Given the description of an element on the screen output the (x, y) to click on. 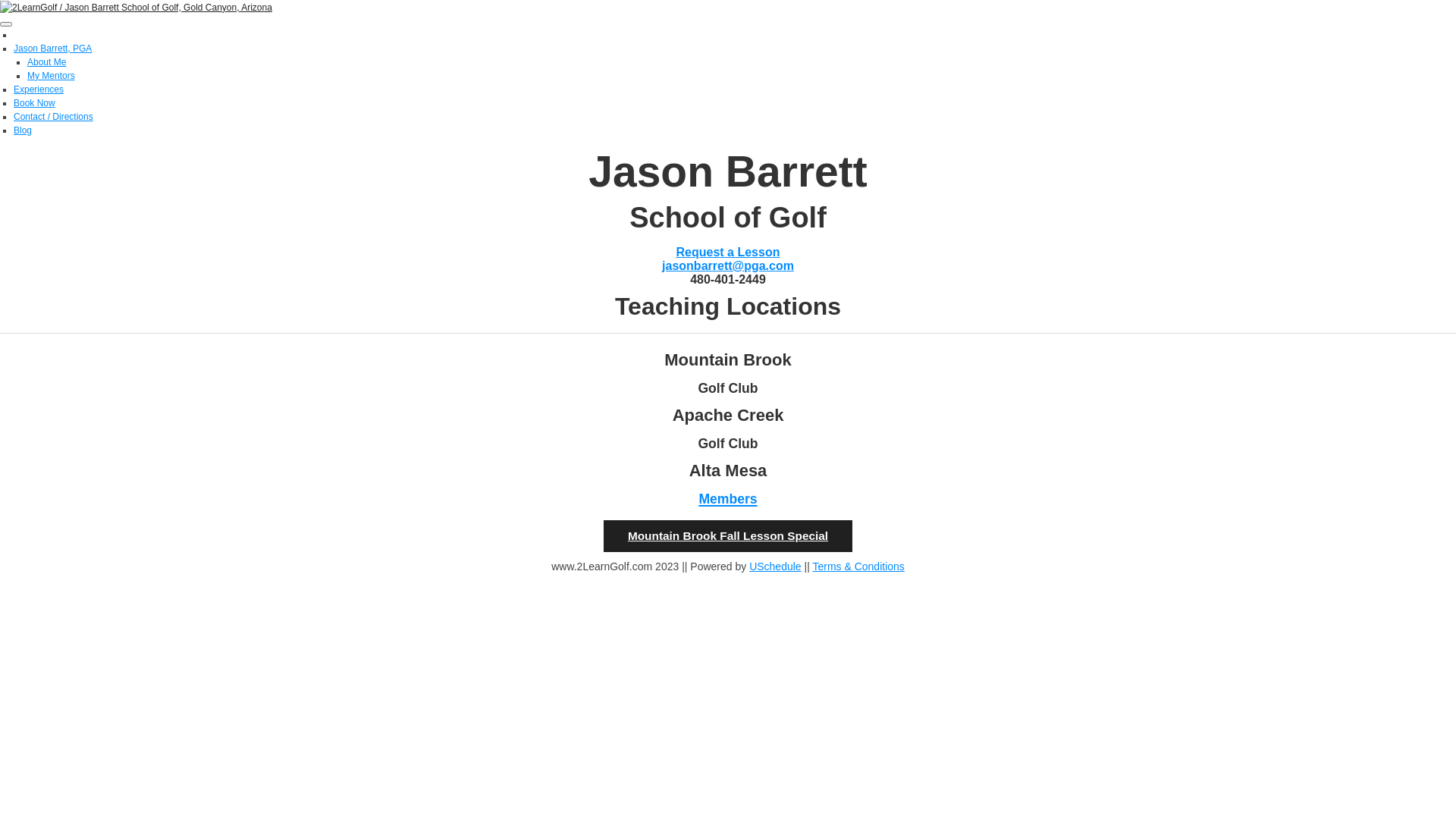
Terms & Conditions Element type: text (857, 566)
Mountain Brook Fall Lesson Special Element type: text (727, 536)
Contact / Directions Element type: text (53, 116)
USchedule Element type: text (775, 566)
My Mentors Element type: text (51, 75)
jasonbarrett@pga.com Element type: text (727, 265)
Book Now Element type: text (34, 102)
Blog Element type: text (22, 130)
Jason Barrett, PGA Element type: text (52, 48)
Request a Lesson Element type: text (728, 251)
Members Element type: text (727, 497)
About Me Element type: text (46, 61)
Experiences Element type: text (38, 89)
